Given the description of an element on the screen output the (x, y) to click on. 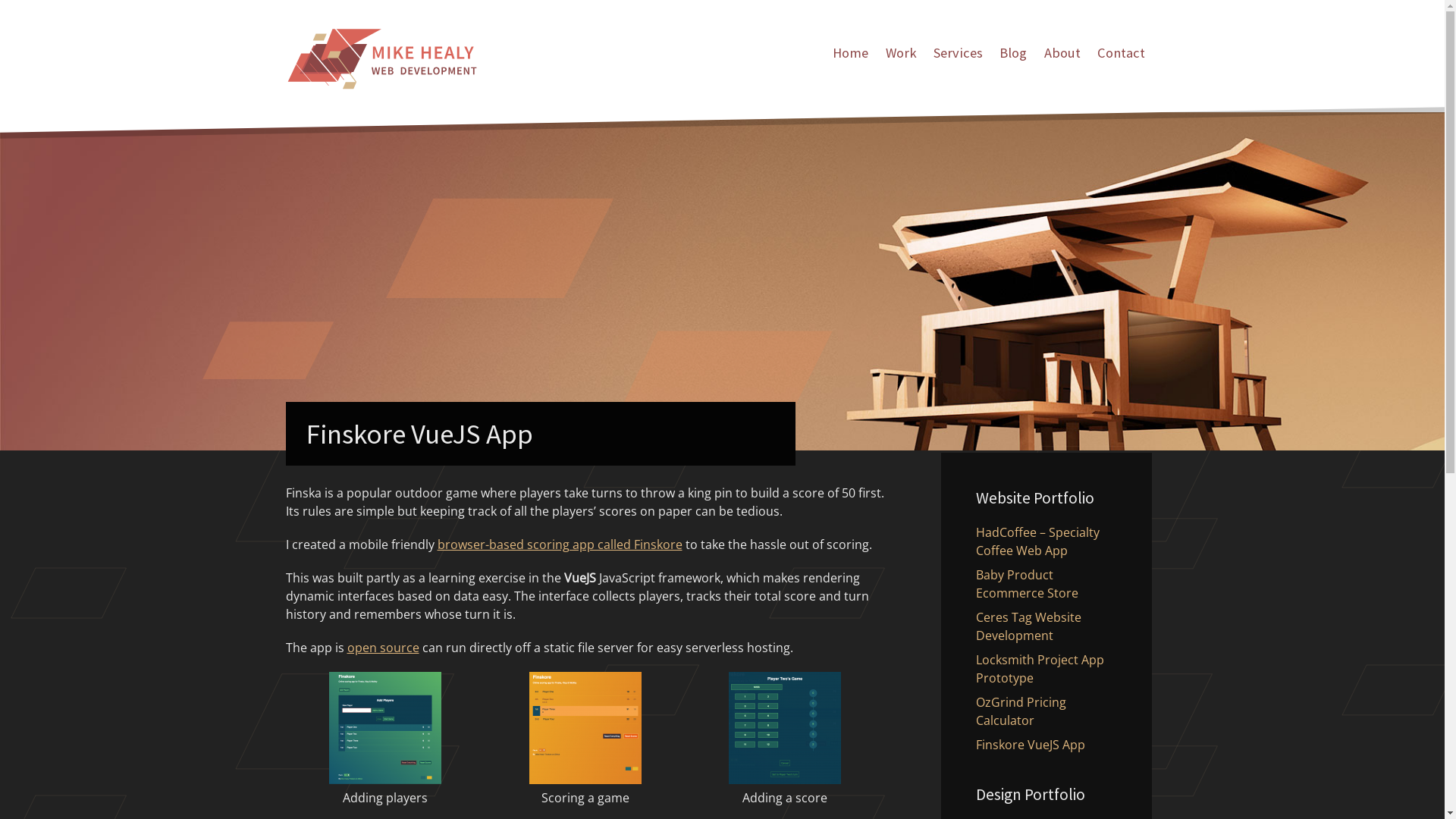
About Element type: text (1062, 55)
Contact Element type: text (1121, 55)
Blog Element type: text (1012, 55)
Home Element type: text (850, 55)
Finskore VueJS App Element type: text (1029, 744)
OzGrind Pricing Calculator Element type: text (1020, 710)
Ceres Tag Website Development Element type: text (1027, 625)
Work Element type: text (900, 55)
browser-based scoring app called Finskore Element type: text (558, 544)
Locksmith Project App Prototype Element type: text (1039, 668)
Services Element type: text (957, 55)
open source Element type: text (383, 647)
Baby Product Ecommerce Store Element type: text (1026, 583)
